Given the description of an element on the screen output the (x, y) to click on. 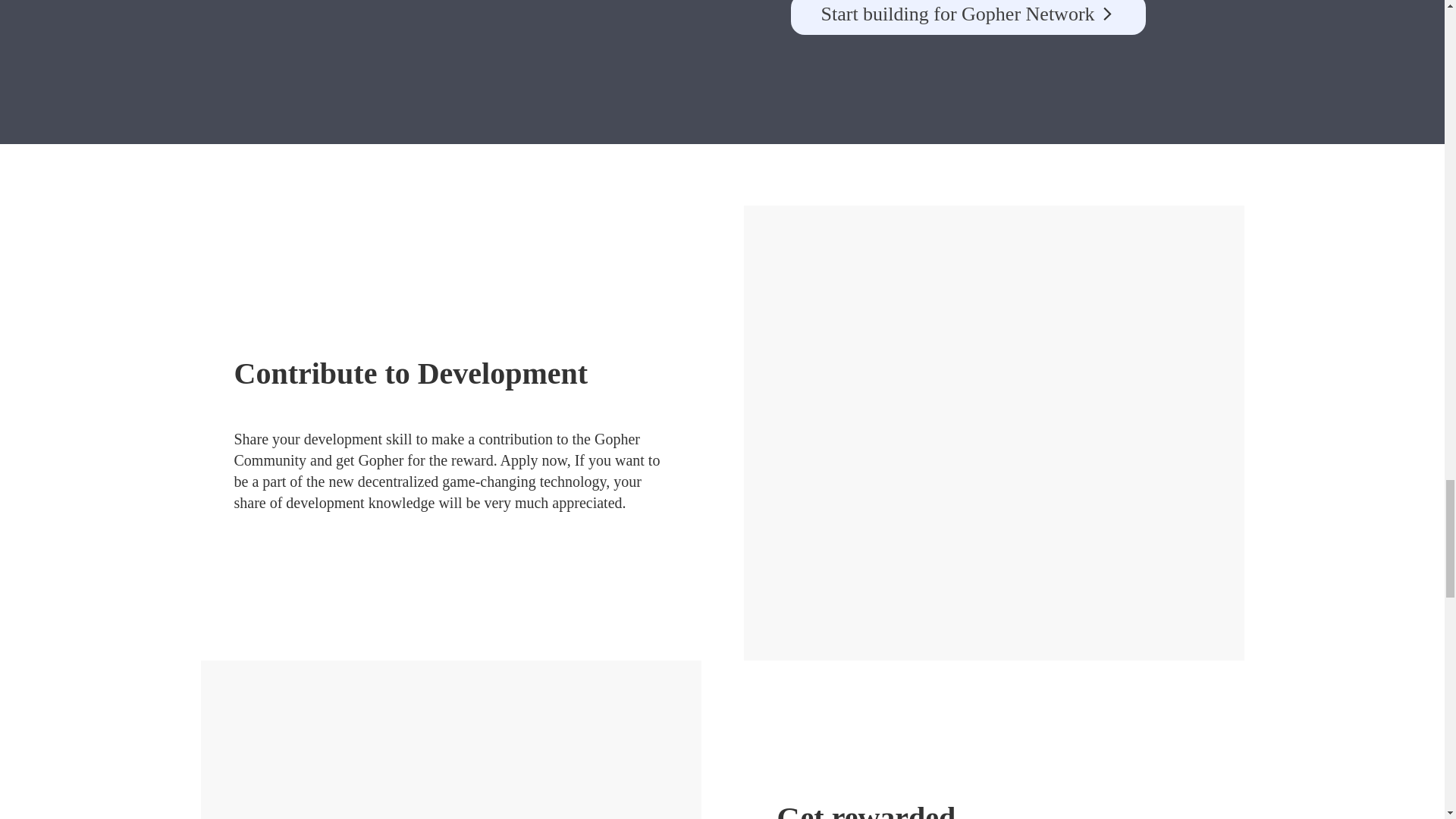
Start building for Gopher Network (967, 17)
